Given the description of an element on the screen output the (x, y) to click on. 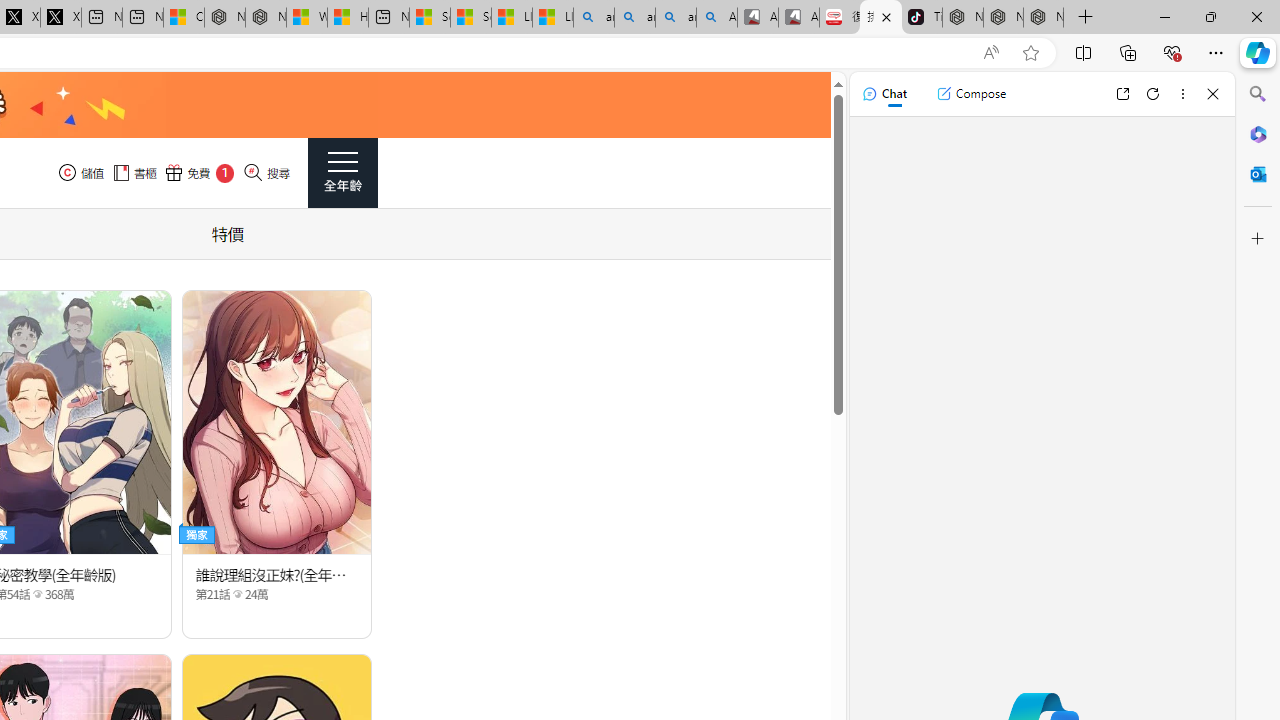
Amazon Echo Robot - Search Images (717, 17)
Nordace - Siena Pro 15 Essential Set (1043, 17)
Huge shark washes ashore at New York City beach | Watch (347, 17)
Nordace - Best Sellers (963, 17)
Class: side_menu_btn actionRightMenuBtn (342, 173)
Microsoft 365 (1258, 133)
TikTok (922, 17)
